Given the description of an element on the screen output the (x, y) to click on. 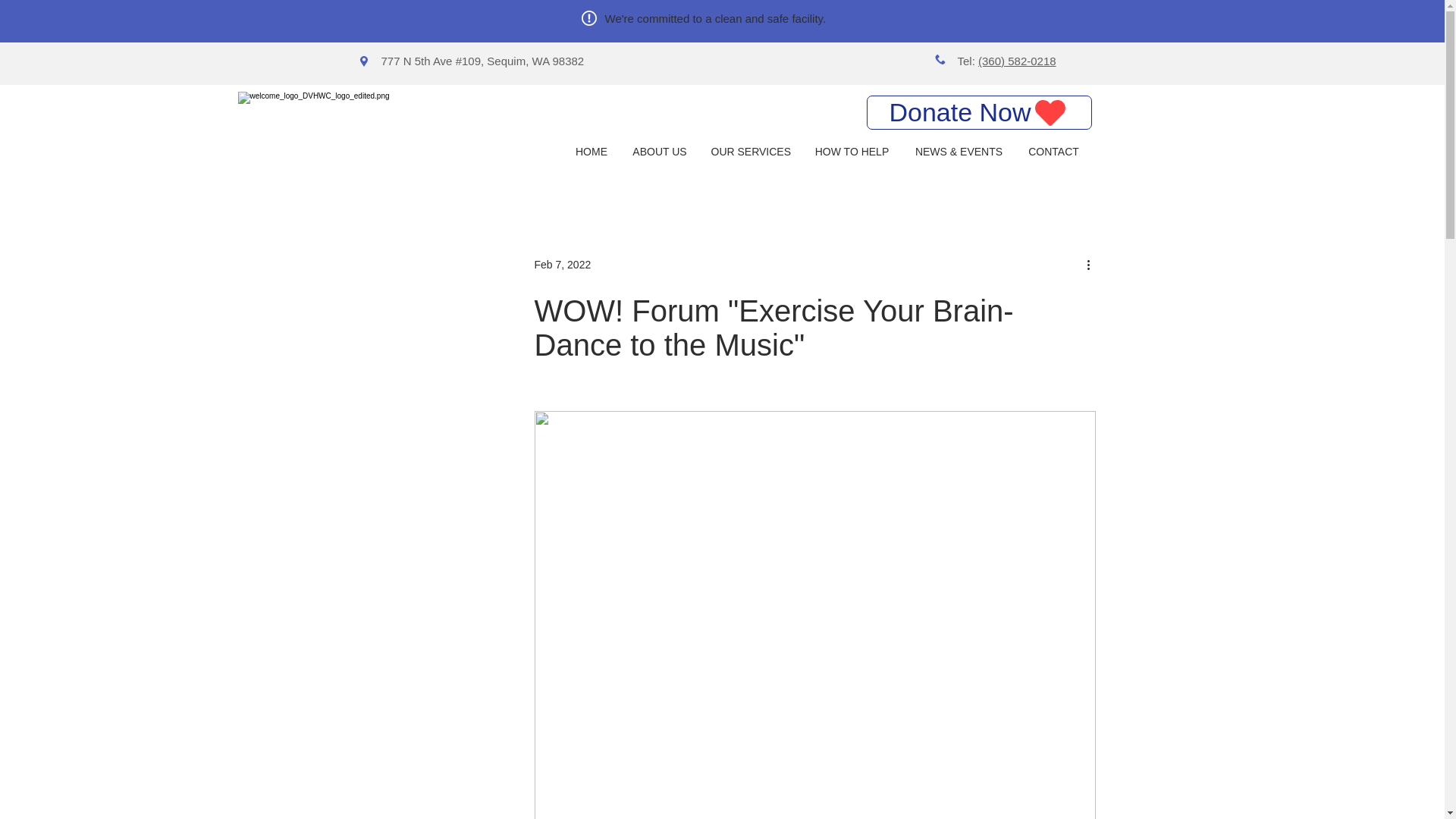
Feb 7, 2022 (562, 263)
Donate Now (978, 112)
HOME (591, 152)
HOW TO HELP (852, 152)
CONTACT (1054, 152)
ABOUT US (660, 152)
OUR SERVICES (750, 152)
